Given the description of an element on the screen output the (x, y) to click on. 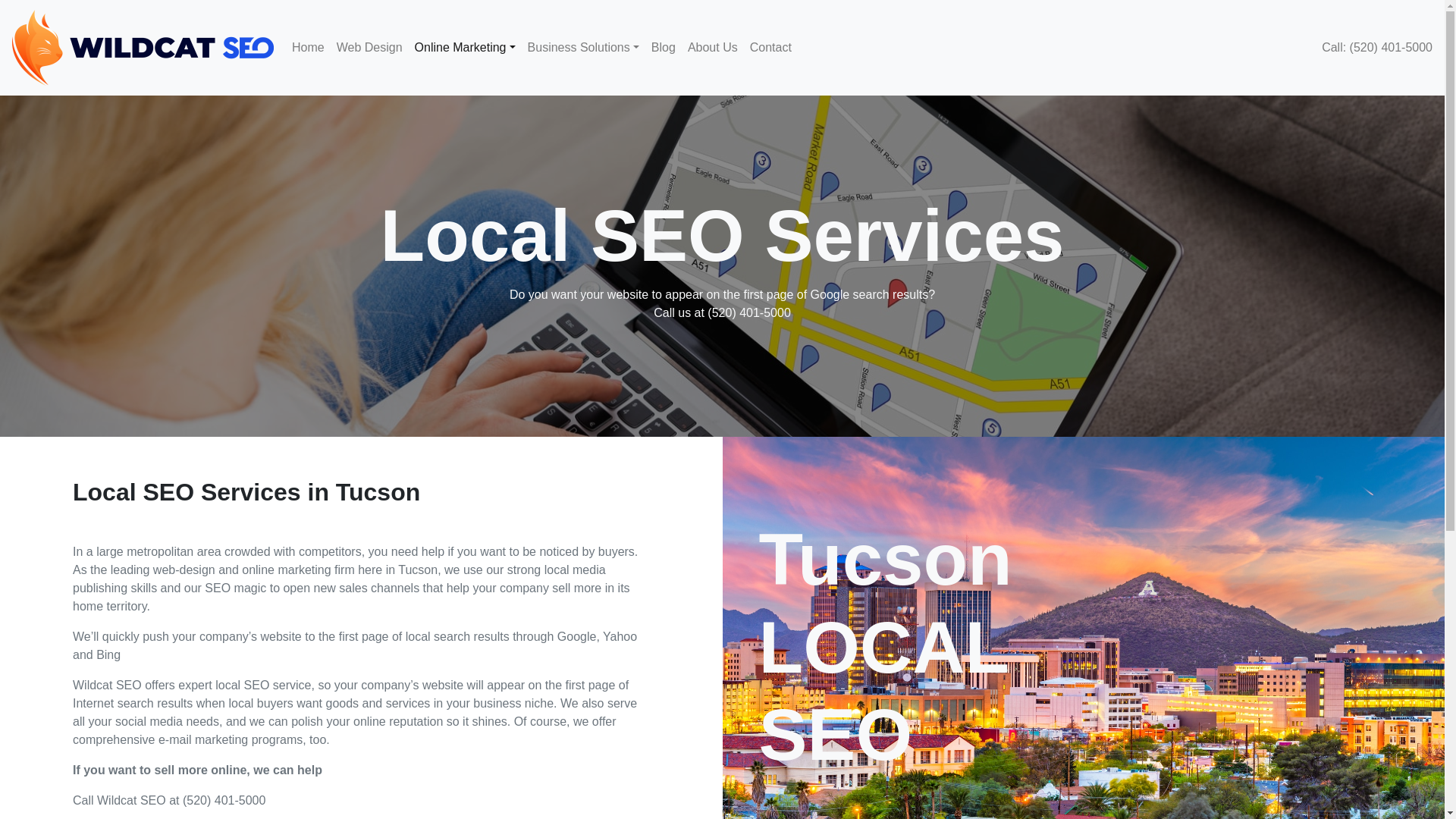
Blog (663, 47)
Business Solutions (583, 47)
Online Marketing (465, 47)
About Us (712, 47)
Home (307, 47)
Contact (770, 47)
Web Design (369, 47)
